Given the description of an element on the screen output the (x, y) to click on. 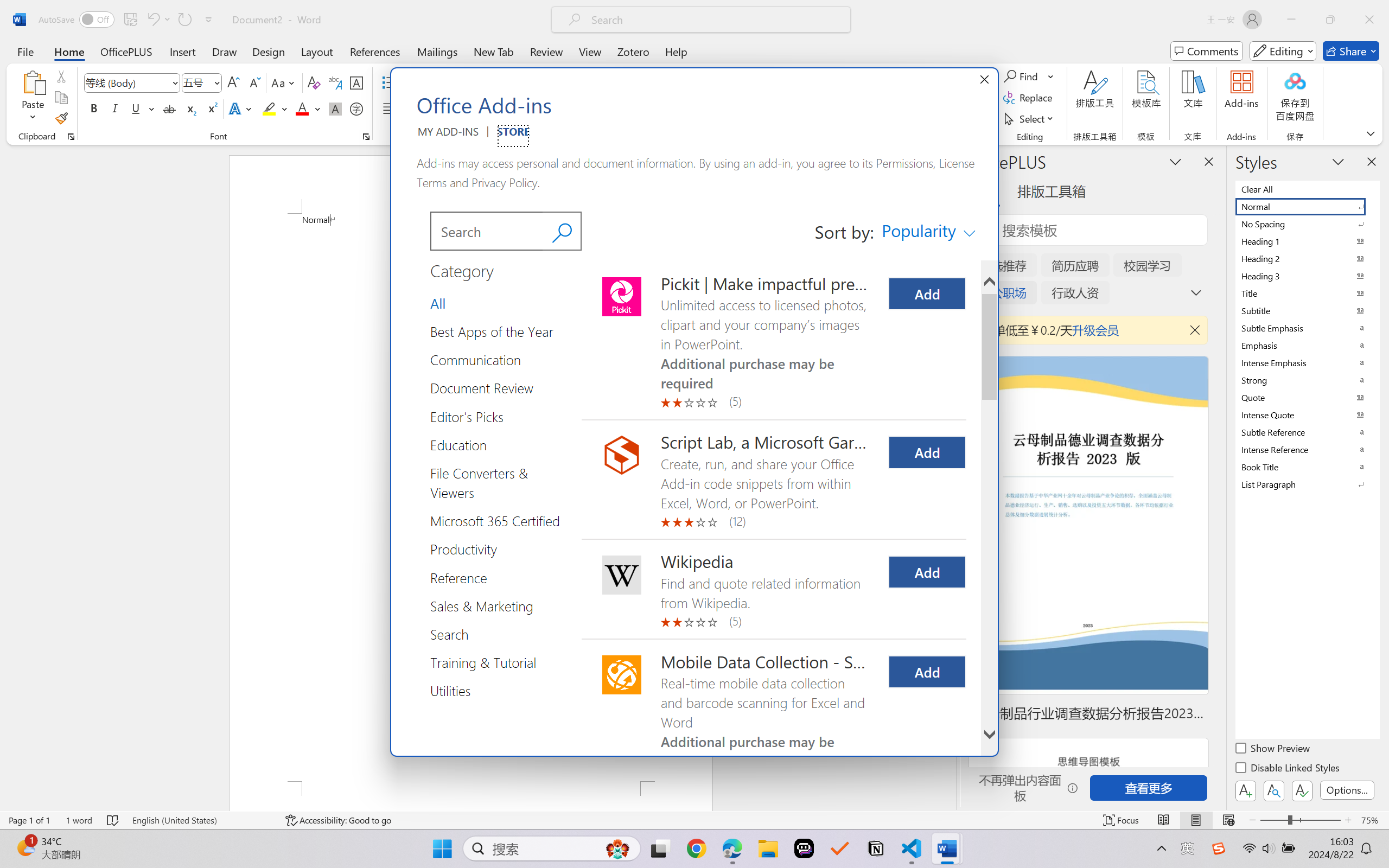
Ribbon Display Options (1370, 132)
Superscript (210, 108)
Minimize (1291, 19)
Shrink Font (253, 82)
Poe (804, 848)
Search (562, 230)
Review (546, 51)
Language English (United States) (201, 819)
Text Effects and Typography (241, 108)
Class: Image (1218, 847)
Paste (33, 97)
Strikethrough (169, 108)
AutomationID: BadgeAnchorLargeTicker (24, 847)
